Given the description of an element on the screen output the (x, y) to click on. 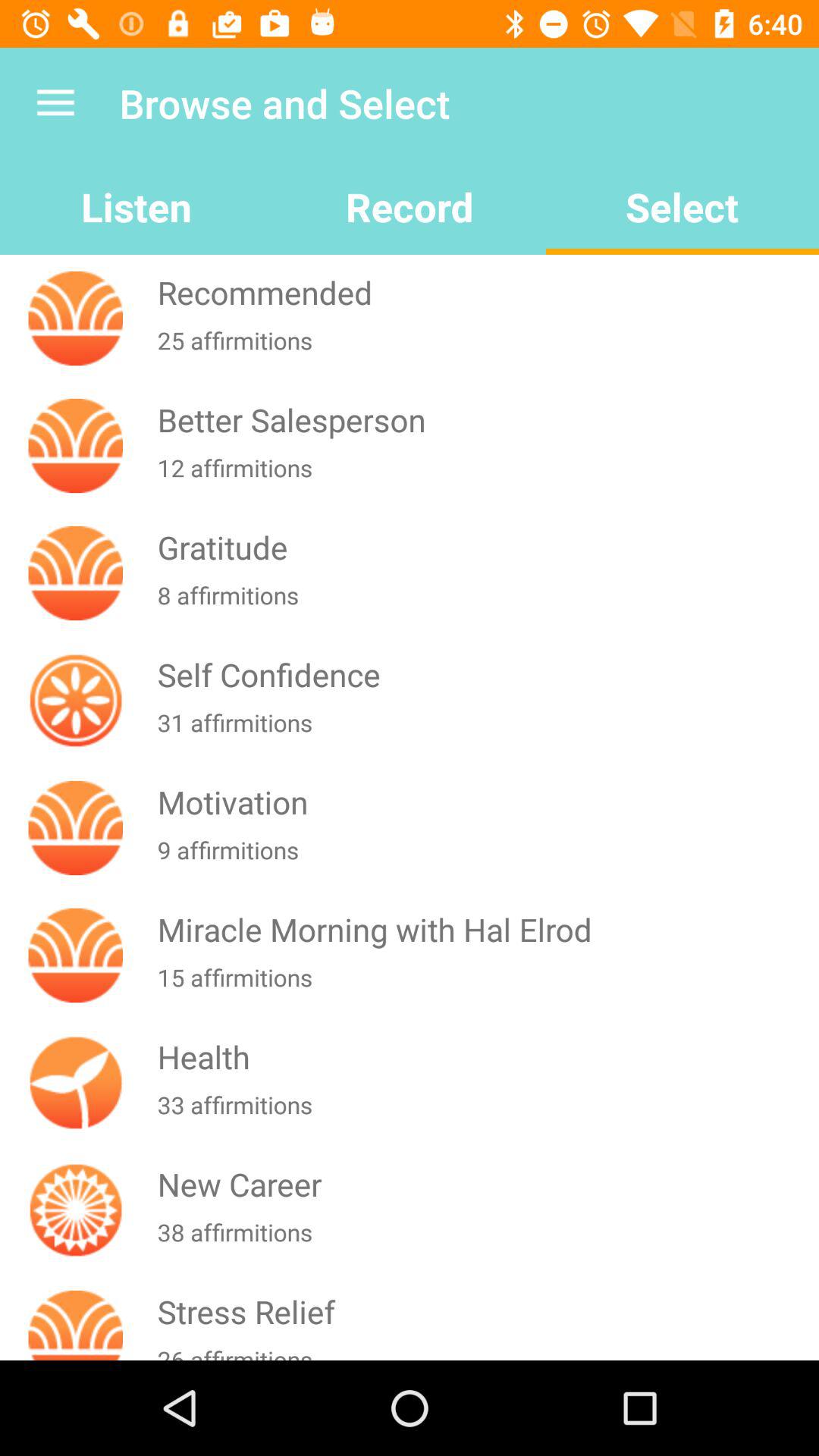
flip to 38 affirmitions item (484, 1241)
